Given the description of an element on the screen output the (x, y) to click on. 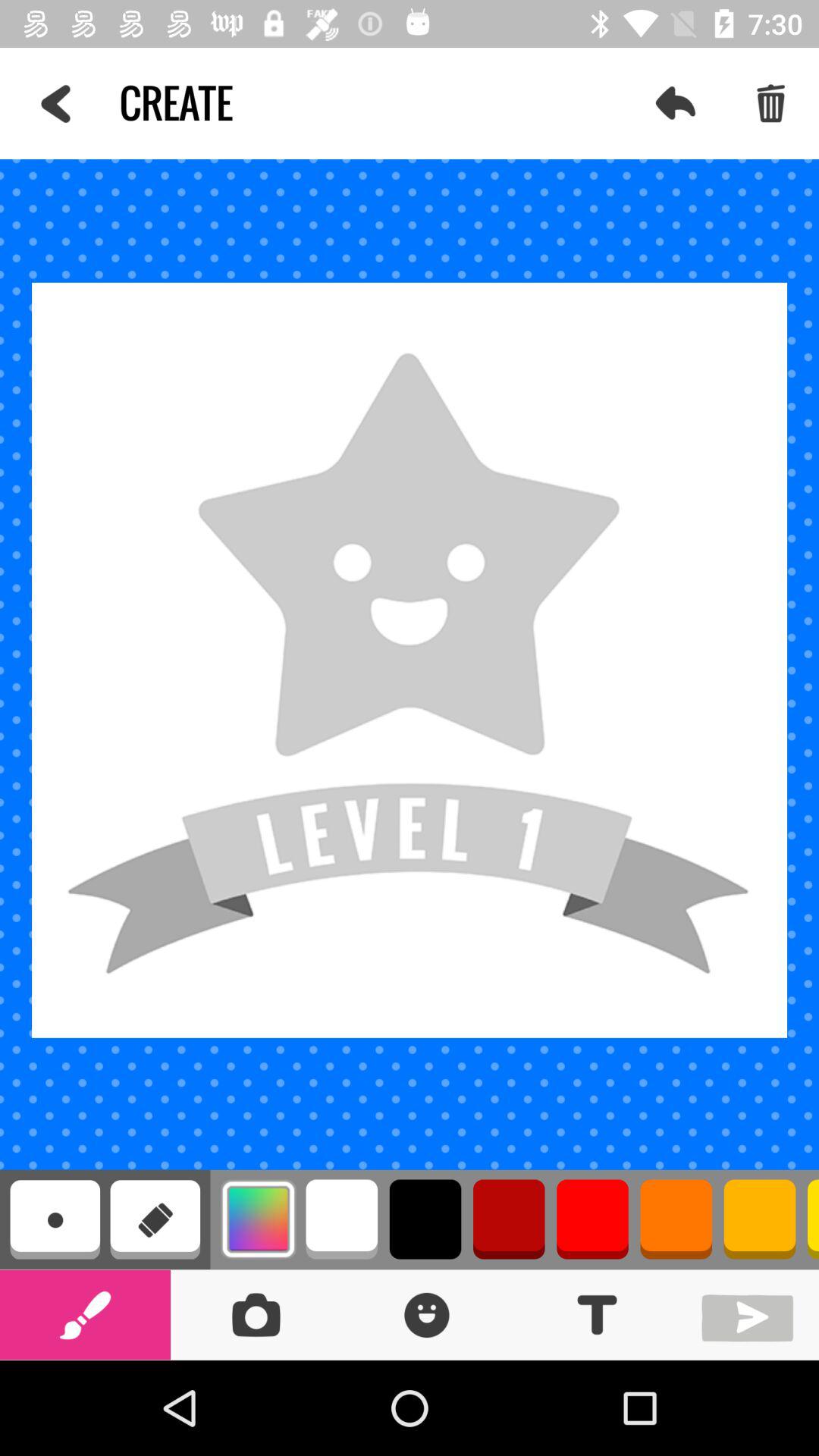
go back (750, 1314)
